Given the description of an element on the screen output the (x, y) to click on. 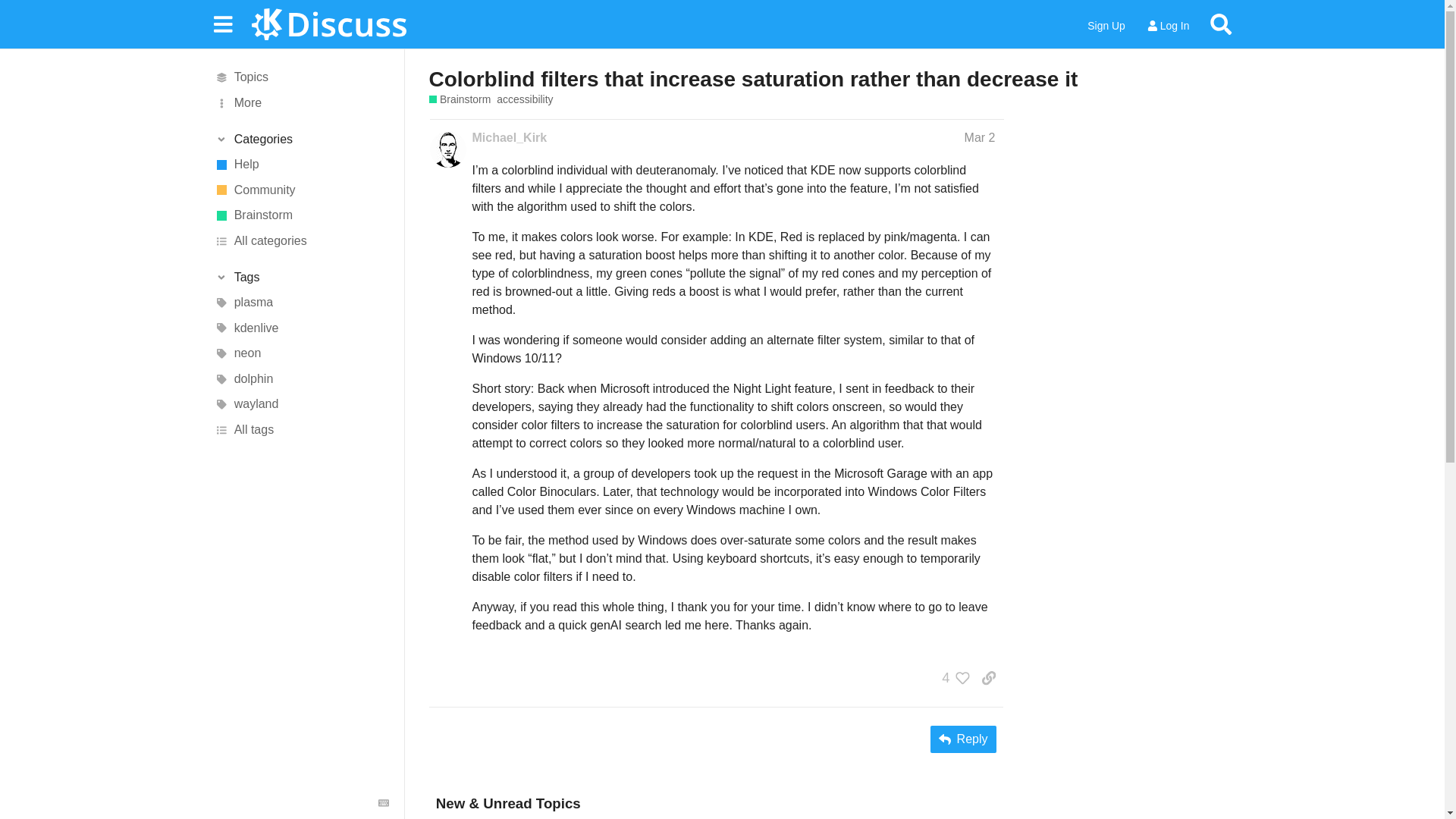
Topics (301, 77)
Categories (301, 139)
Community (301, 190)
4 (951, 678)
Sign Up (1105, 25)
Help (301, 164)
All topics (301, 77)
More (301, 103)
Tags (301, 277)
accessibility (524, 99)
All tags (301, 429)
Mar 2 (979, 137)
plasma (301, 302)
kdenlive (301, 328)
